Given the description of an element on the screen output the (x, y) to click on. 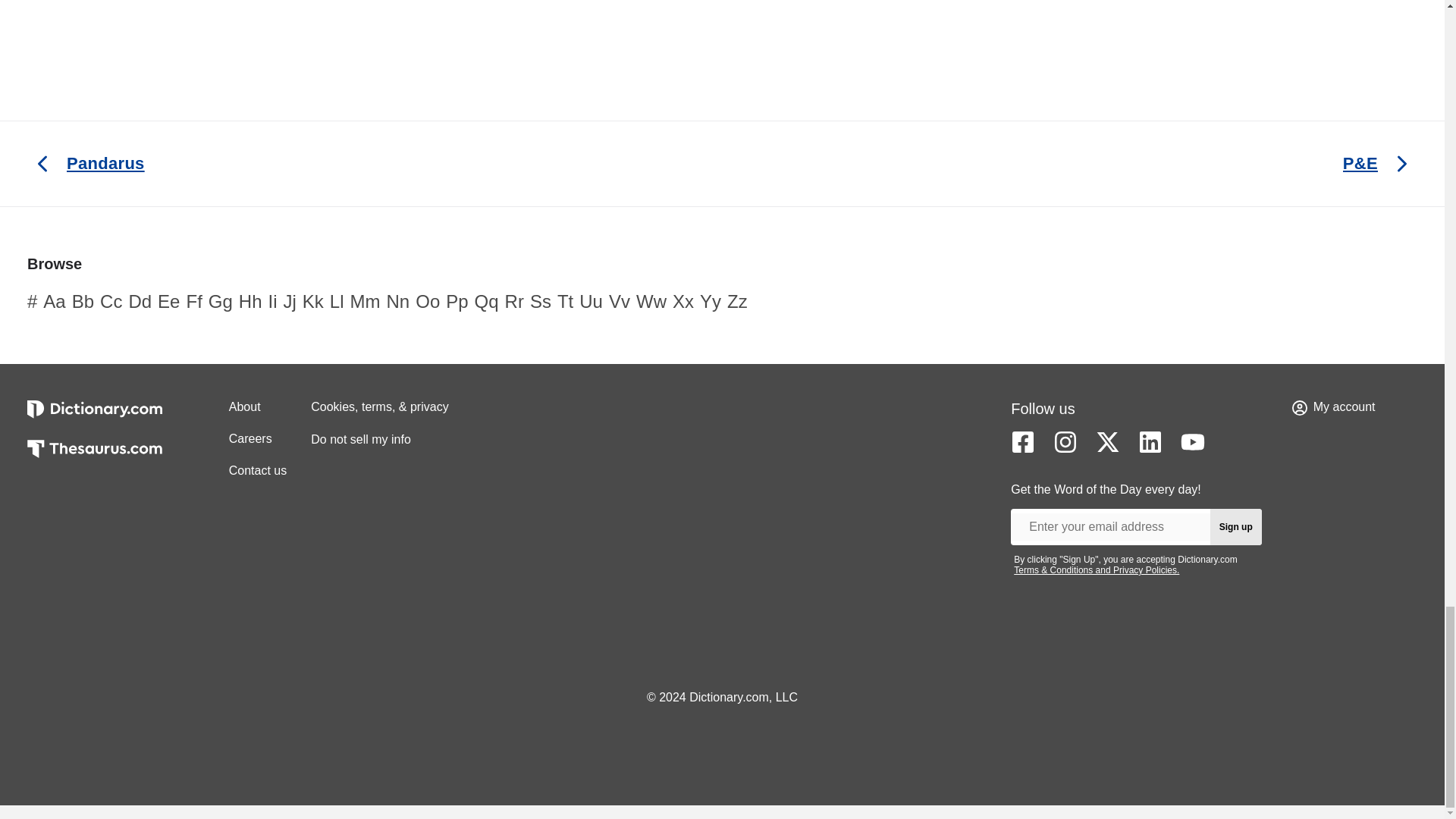
linkedin (1149, 441)
twitter (1107, 441)
facebook (1022, 441)
instagram (1064, 441)
youtube (1192, 441)
